Given the description of an element on the screen output the (x, y) to click on. 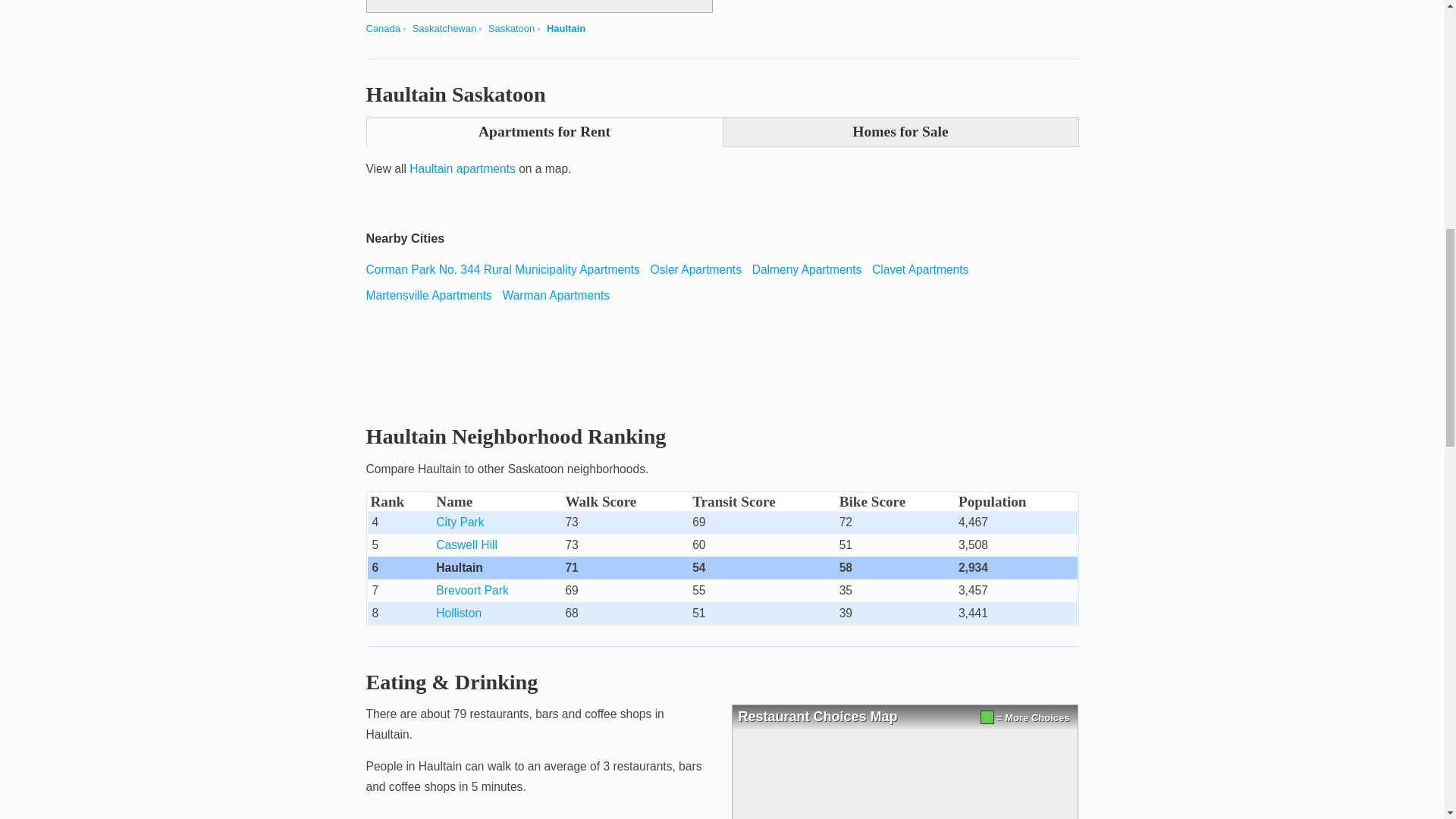
Canada (382, 28)
Apartments for Rent (543, 132)
Haultain (566, 28)
Canada Walkability Rankings (382, 28)
Cities in Saskatchewan state (444, 28)
Homes for Sale (900, 132)
Saskatoon (510, 28)
Saskatchewan (444, 28)
Haultain apartments (462, 168)
